Given the description of an element on the screen output the (x, y) to click on. 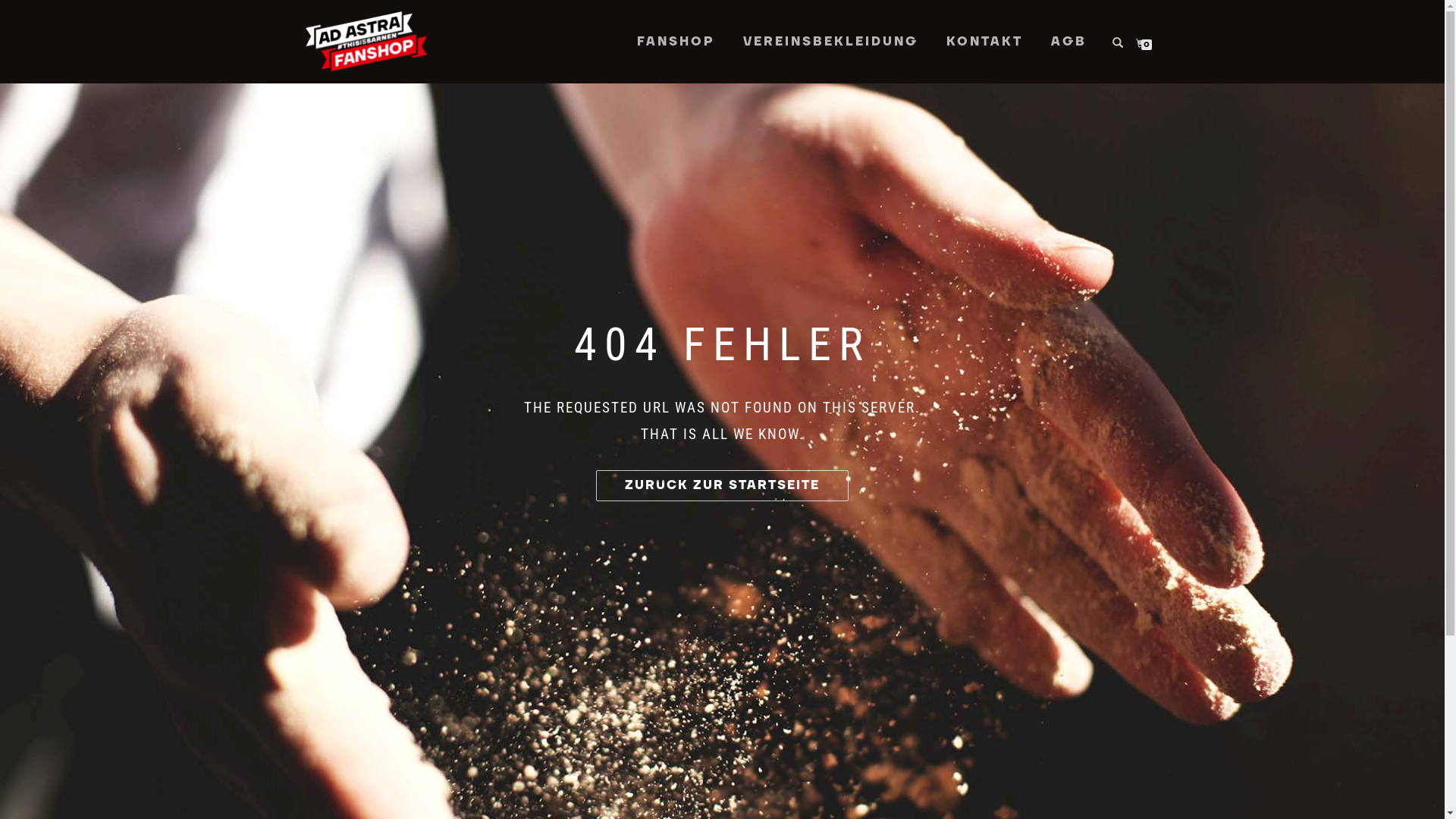
AGB Element type: text (1067, 41)
0 Element type: text (1143, 42)
VEREINSBEKLEIDUNG Element type: text (829, 41)
KONTAKT Element type: text (983, 41)
FANSHOP Element type: text (674, 41)
